Given the description of an element on the screen output the (x, y) to click on. 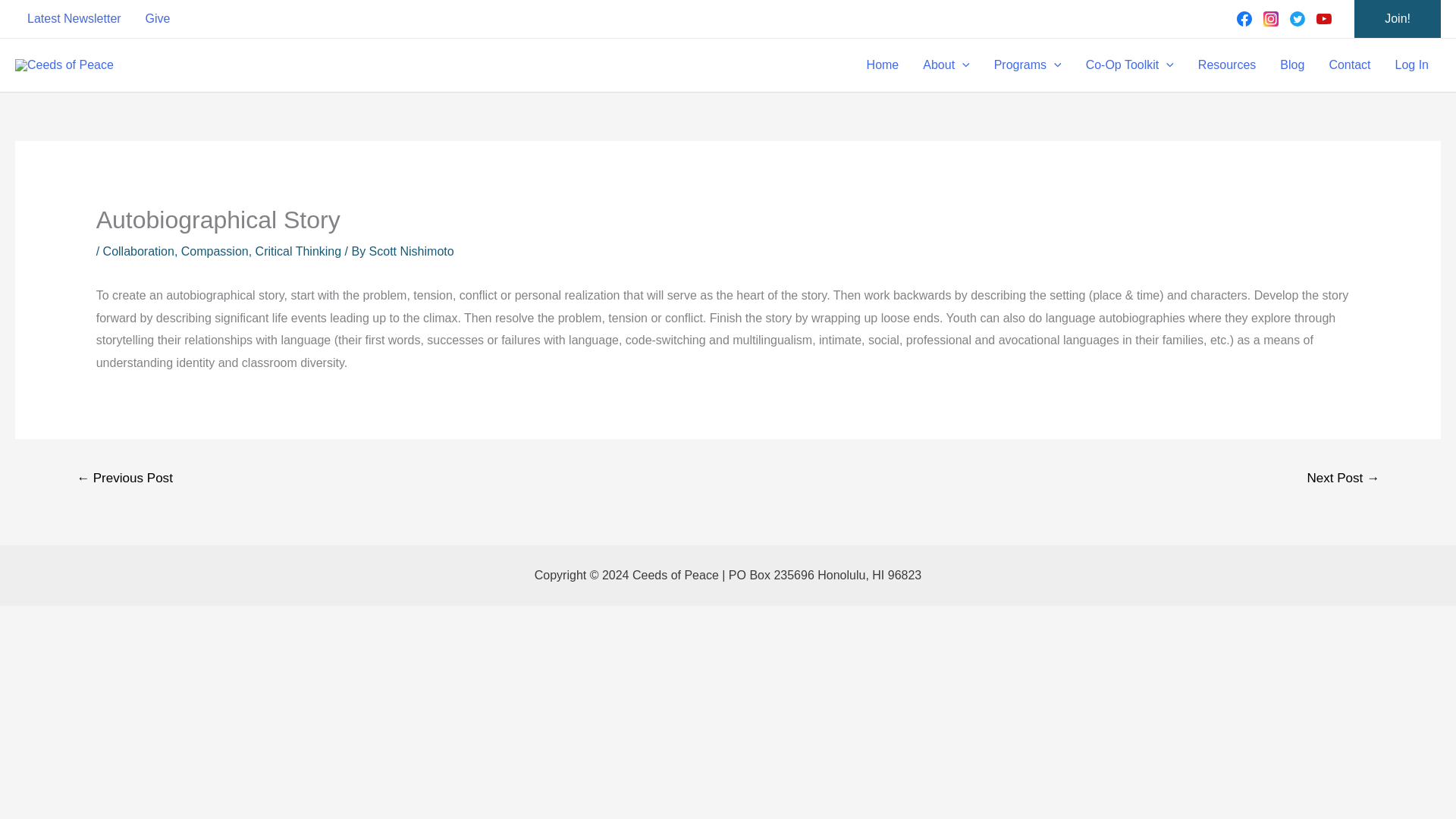
Give (158, 19)
About (946, 64)
Join! (1397, 18)
Home (882, 64)
Programs (1027, 64)
Latest Newsletter (73, 22)
Co-Op Toolkit (1130, 64)
View all posts by Scott Nishimoto (411, 250)
